Given the description of an element on the screen output the (x, y) to click on. 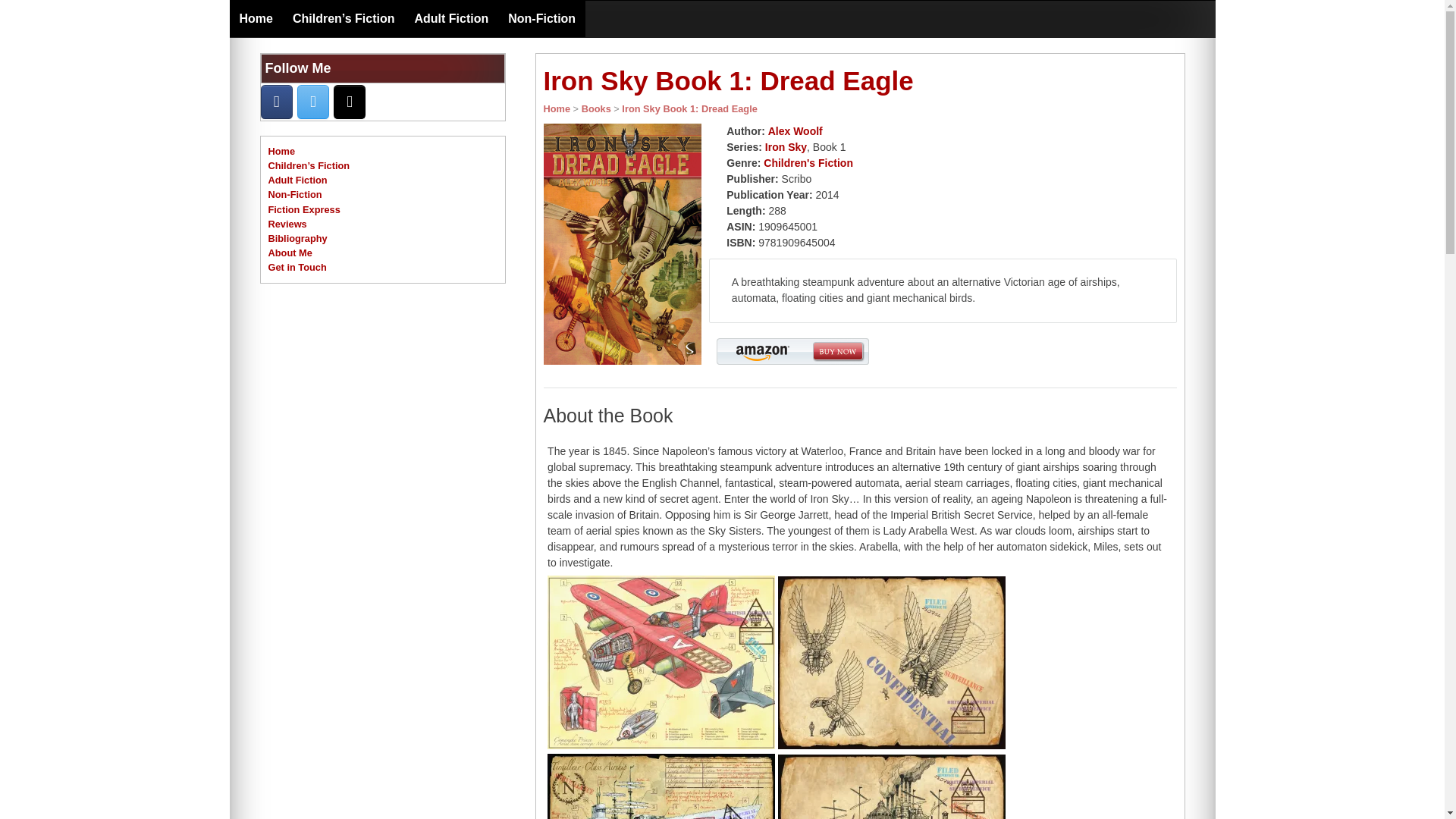
Adult Fiction (450, 18)
Non-Fiction (541, 18)
Iron Sky Book 1: Dread Eagle (689, 108)
Alex Woolf (795, 131)
Home (556, 108)
Books (595, 108)
Home (281, 151)
Iron Sky (785, 146)
Children's Fiction (807, 162)
 on Amazon (349, 101)
